Given the description of an element on the screen output the (x, y) to click on. 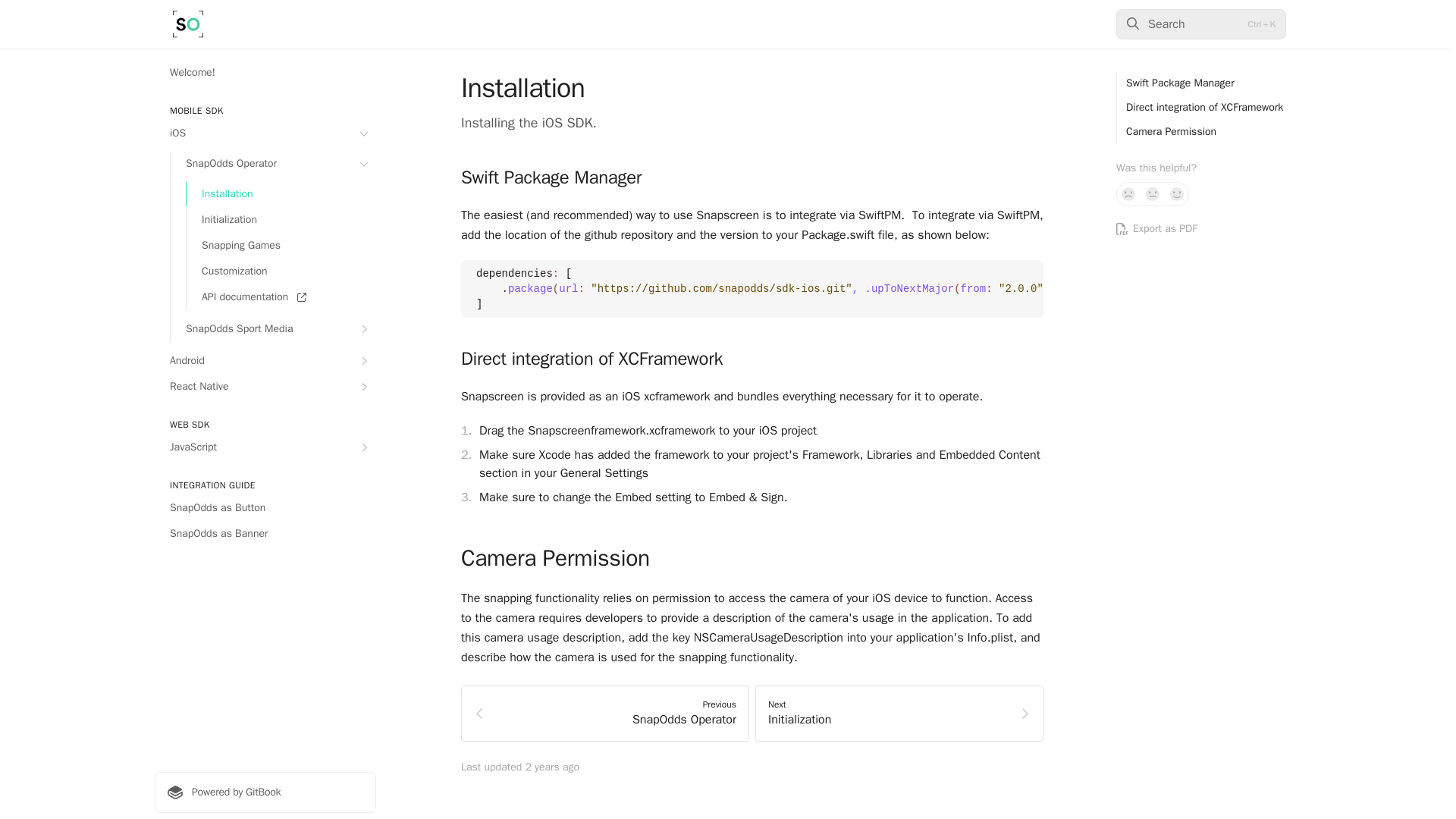
No (1128, 193)
SnapOdds Operator (272, 163)
SnapOdds Sport Media (272, 328)
iOS (264, 133)
React Native (264, 386)
API documentation (280, 297)
Yes, it was! (1176, 193)
Snapping Games (280, 245)
Android (264, 360)
Installation (280, 193)
